Given the description of an element on the screen output the (x, y) to click on. 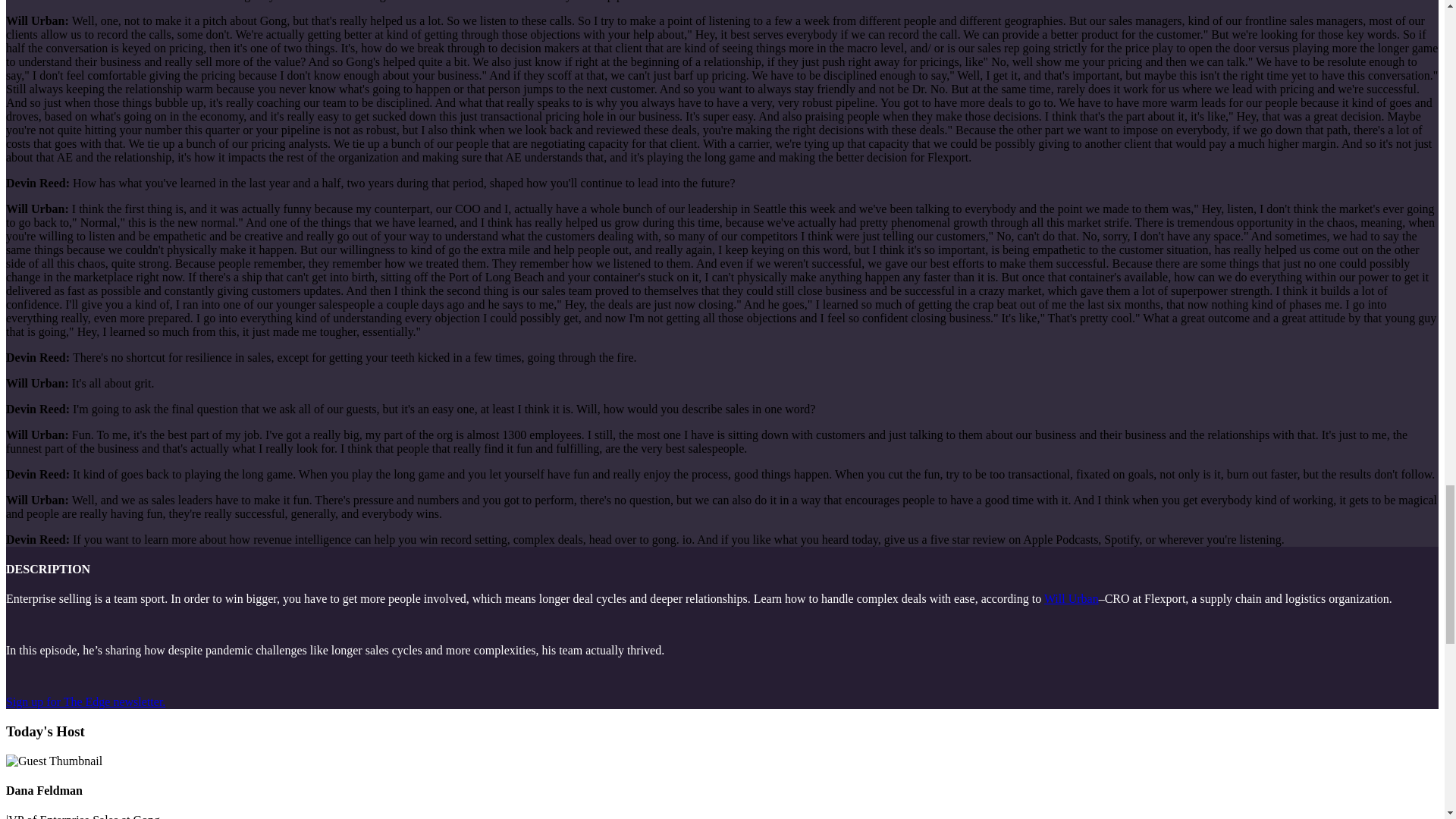
Will Urban (1071, 598)
Sign up for The Edge newsletter. (85, 701)
